Given the description of an element on the screen output the (x, y) to click on. 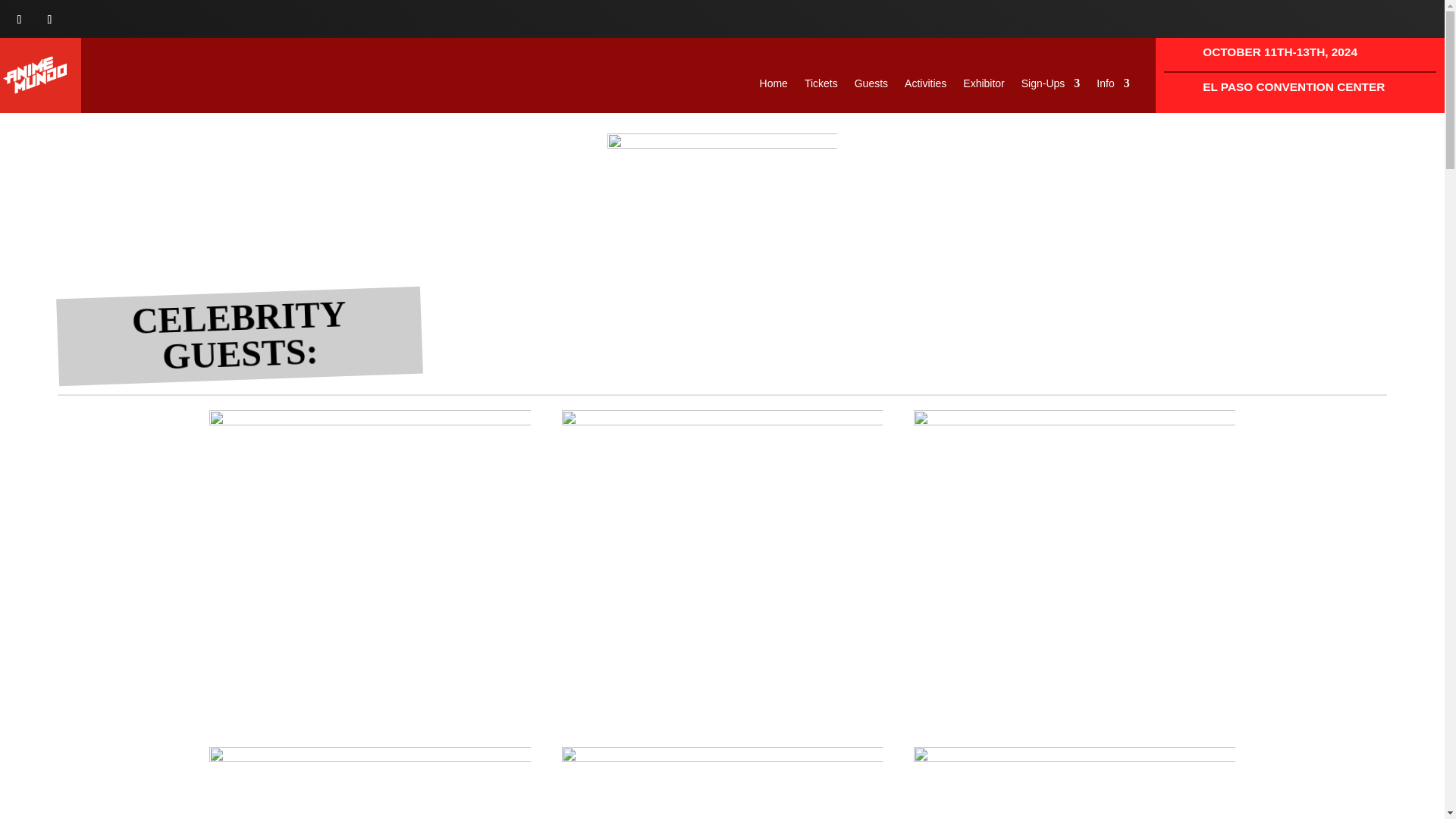
Tickets (821, 86)
Follow on Instagram (49, 19)
AM Deathnote Celebrity Announcement - Alessandro Juliani (722, 571)
Sign-Ups (1051, 86)
Guests (871, 86)
AM Deathnote Celebrity Announcement - Brad Swaile (370, 571)
Exhibitor (983, 86)
Info (1112, 86)
AM Celebrity Announcement - Mario Castaneda (722, 782)
AM Celebrity Announcement - Rene Garcia (1074, 782)
Follow on Facebook (19, 19)
Activities (925, 86)
cropped-Anime-Mundo-Icon.png (34, 75)
AM Deathnote Celebrity Announcement - Shannon Kent Chan (1074, 571)
Home (773, 86)
